Given the description of an element on the screen output the (x, y) to click on. 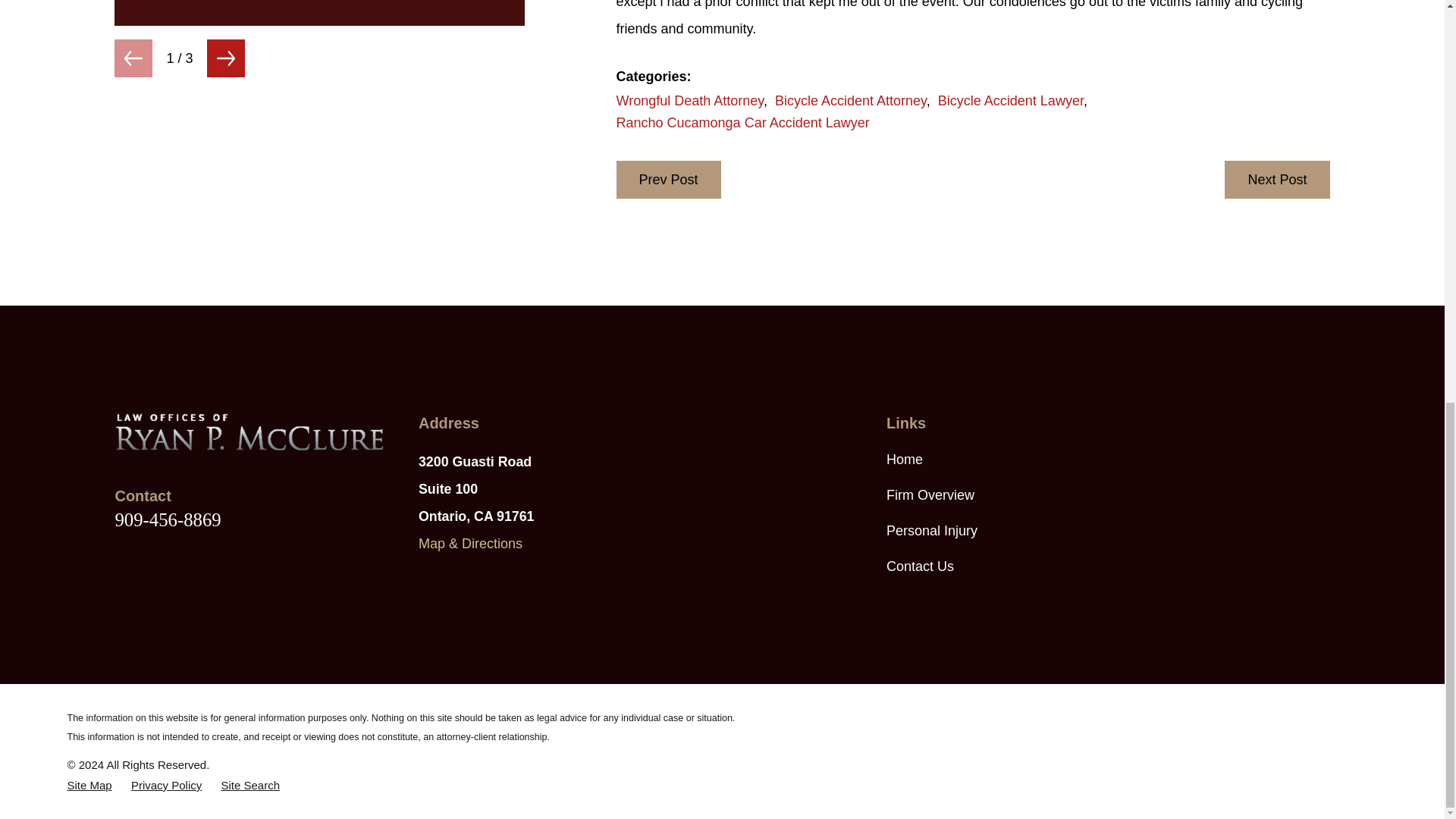
Home (249, 431)
View previous item (133, 57)
View next item (225, 57)
